Given the description of an element on the screen output the (x, y) to click on. 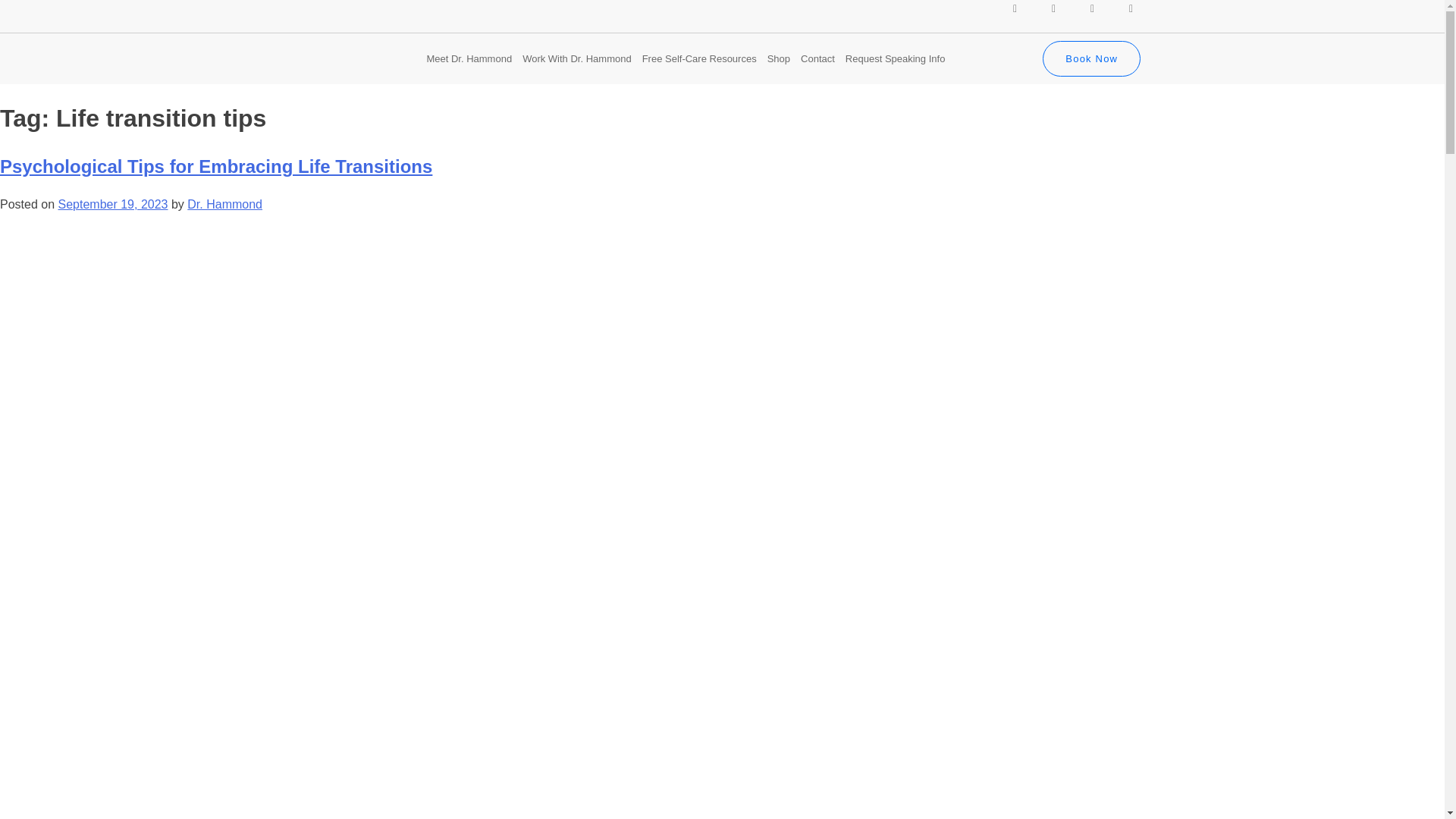
Request Speaking Info (895, 58)
Shop (777, 58)
Contact (817, 58)
Free Self-Care Resources (699, 58)
Work With Dr. Hammond (576, 58)
Meet Dr. Hammond (468, 58)
Book Now (1091, 58)
